Given the description of an element on the screen output the (x, y) to click on. 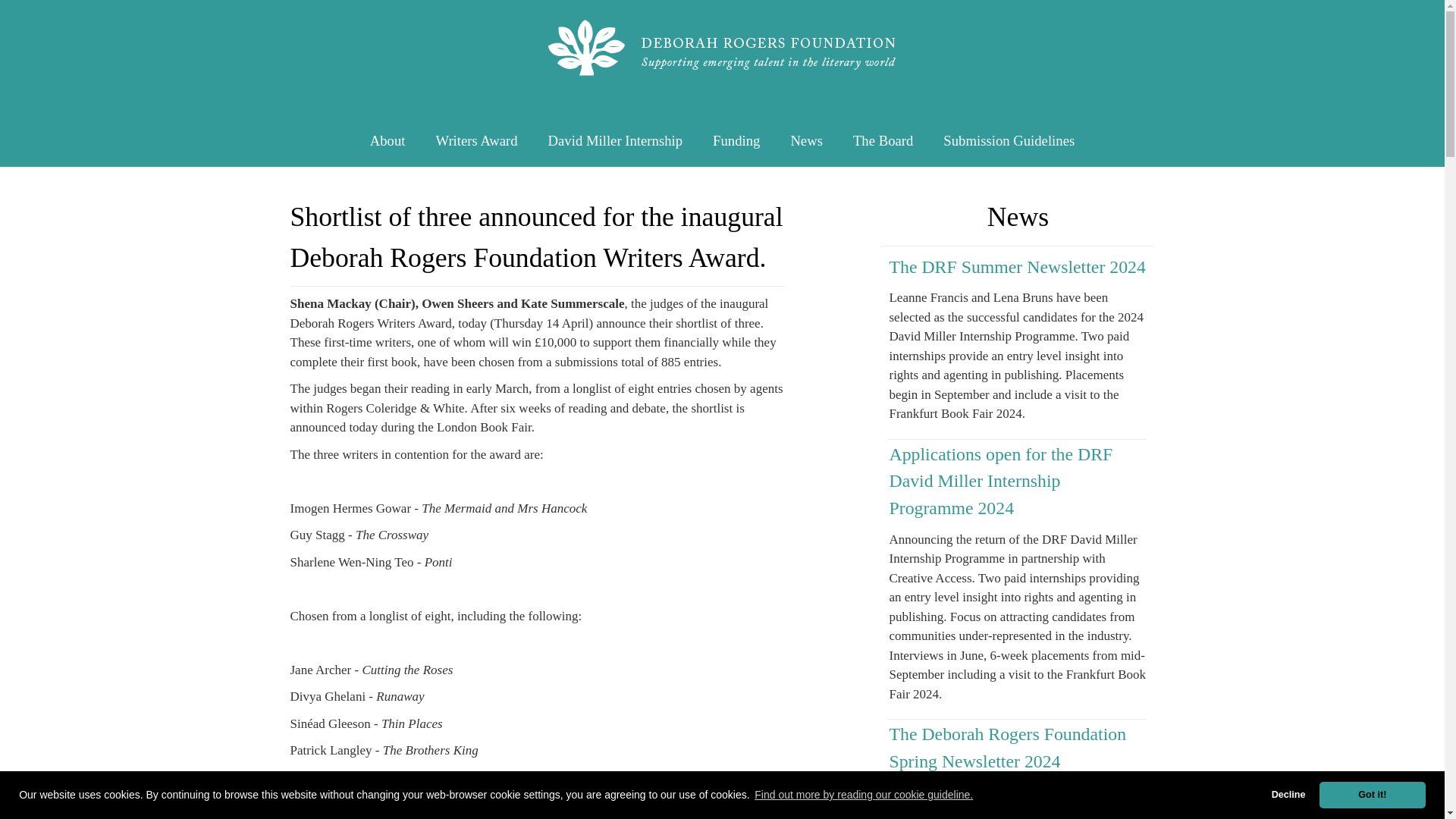
Submission Guidelines (1008, 140)
The DRF Summer Newsletter 2024 (1016, 266)
The Board (883, 140)
The Deborah Rogers Foundation Spring Newsletter 2024 (1006, 747)
Find out more by reading our cookie guideline. (863, 794)
Got it! (1372, 795)
News (806, 140)
David Miller Internship (615, 140)
Funding (735, 140)
About (387, 140)
Decline (1288, 795)
Writers Award (476, 140)
